Given the description of an element on the screen output the (x, y) to click on. 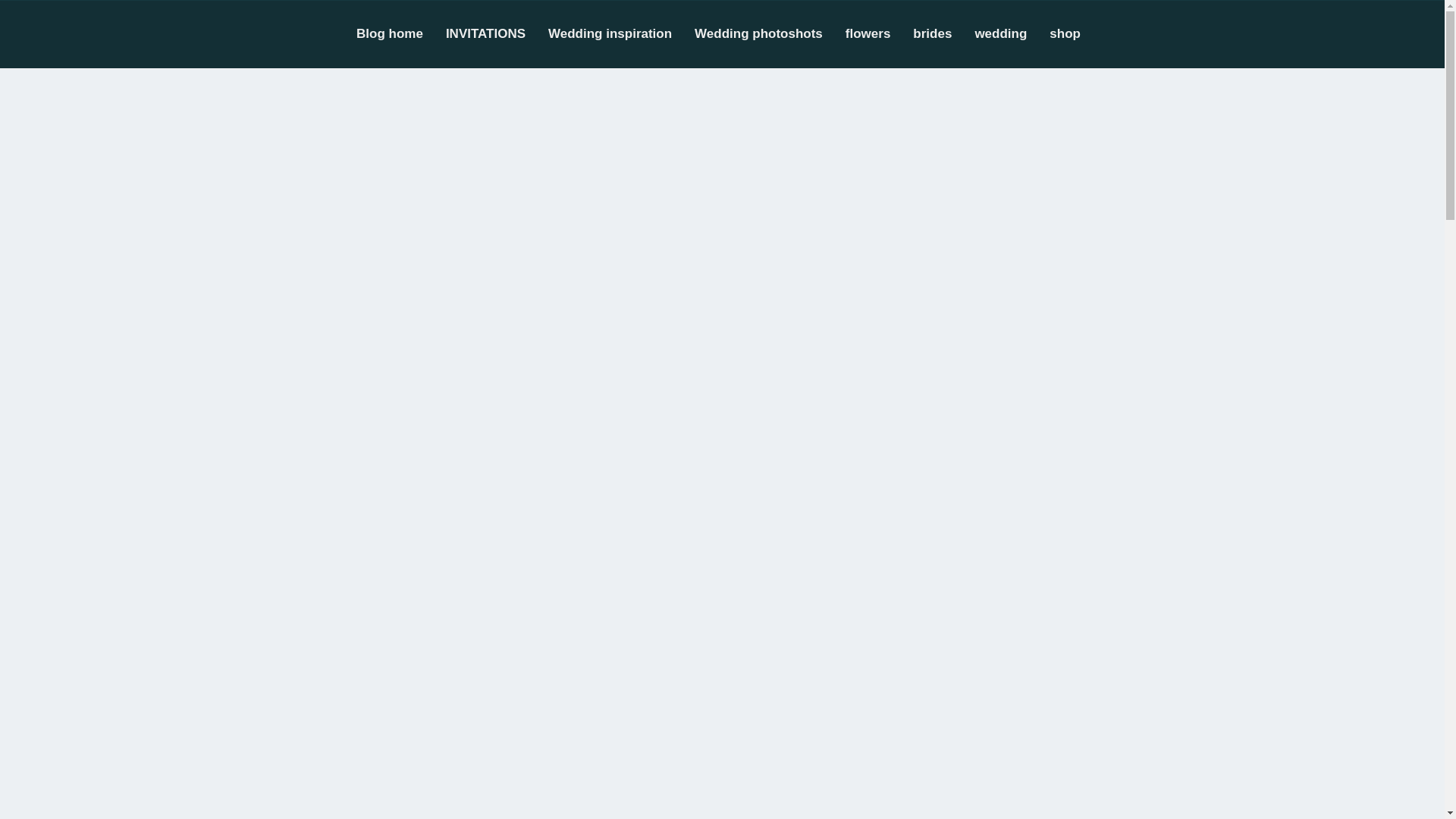
Wedding photoshots (769, 33)
flowers (879, 33)
INVITATIONS (496, 33)
shop (1076, 33)
Blog home (400, 33)
Wedding inspiration (621, 33)
brides (943, 33)
wedding (1011, 33)
